Given the description of an element on the screen output the (x, y) to click on. 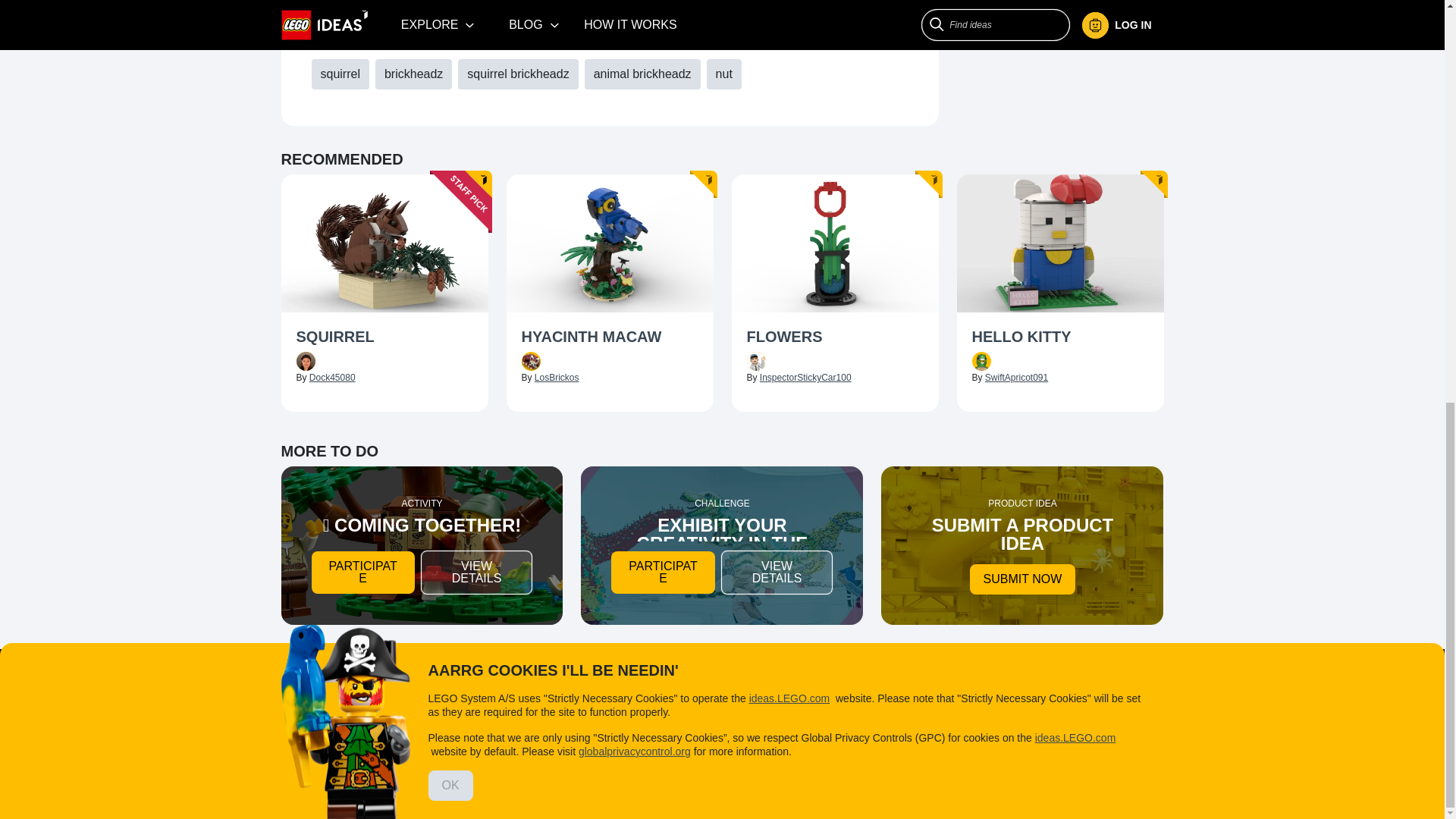
Hyacinth Macaw (609, 337)
Squirrel (383, 337)
